Given the description of an element on the screen output the (x, y) to click on. 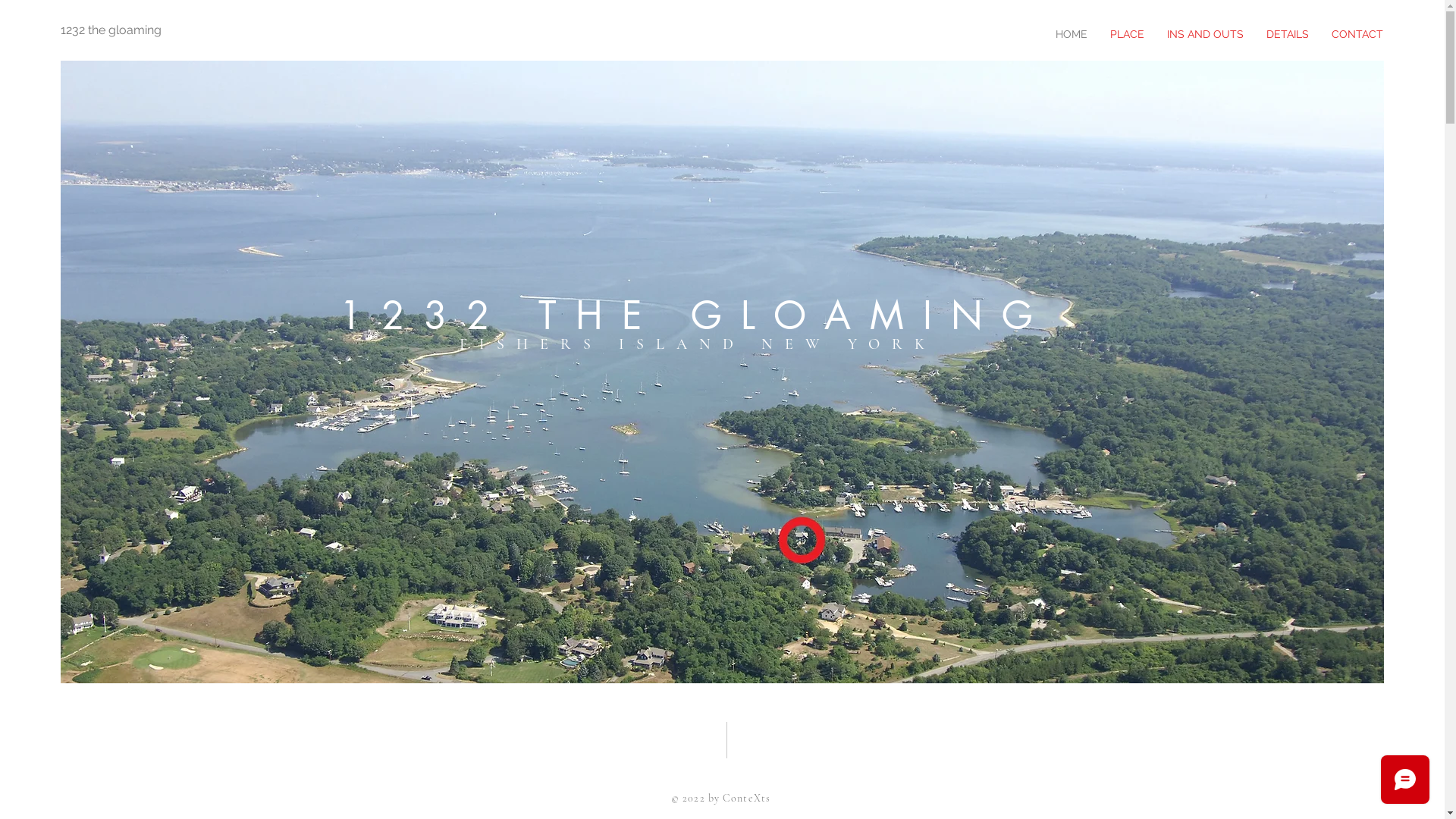
PLACE Element type: text (1126, 34)
HOME Element type: text (1071, 34)
DETAILS Element type: text (1287, 34)
INS AND OUTS Element type: text (1205, 34)
1232 the gloaming Element type: text (111, 30)
CONTACT Element type: text (1357, 34)
